Given the description of an element on the screen output the (x, y) to click on. 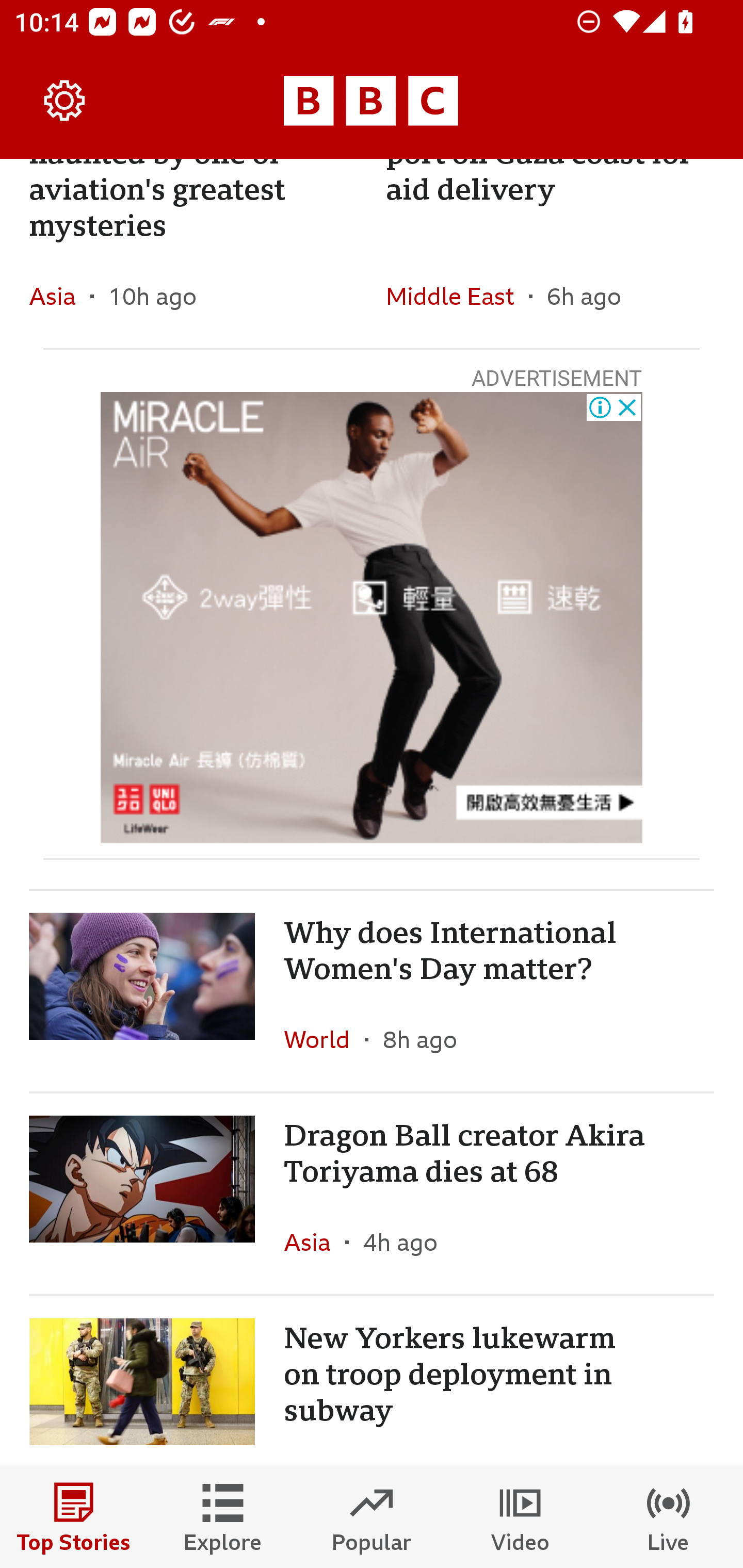
Settings (64, 100)
Asia In the section Asia (59, 296)
Middle East In the section Middle East (457, 296)
Advertisement (371, 617)
World In the section World (323, 1039)
Asia In the section Asia (314, 1241)
Explore (222, 1517)
Popular (371, 1517)
Video (519, 1517)
Live (668, 1517)
